Given the description of an element on the screen output the (x, y) to click on. 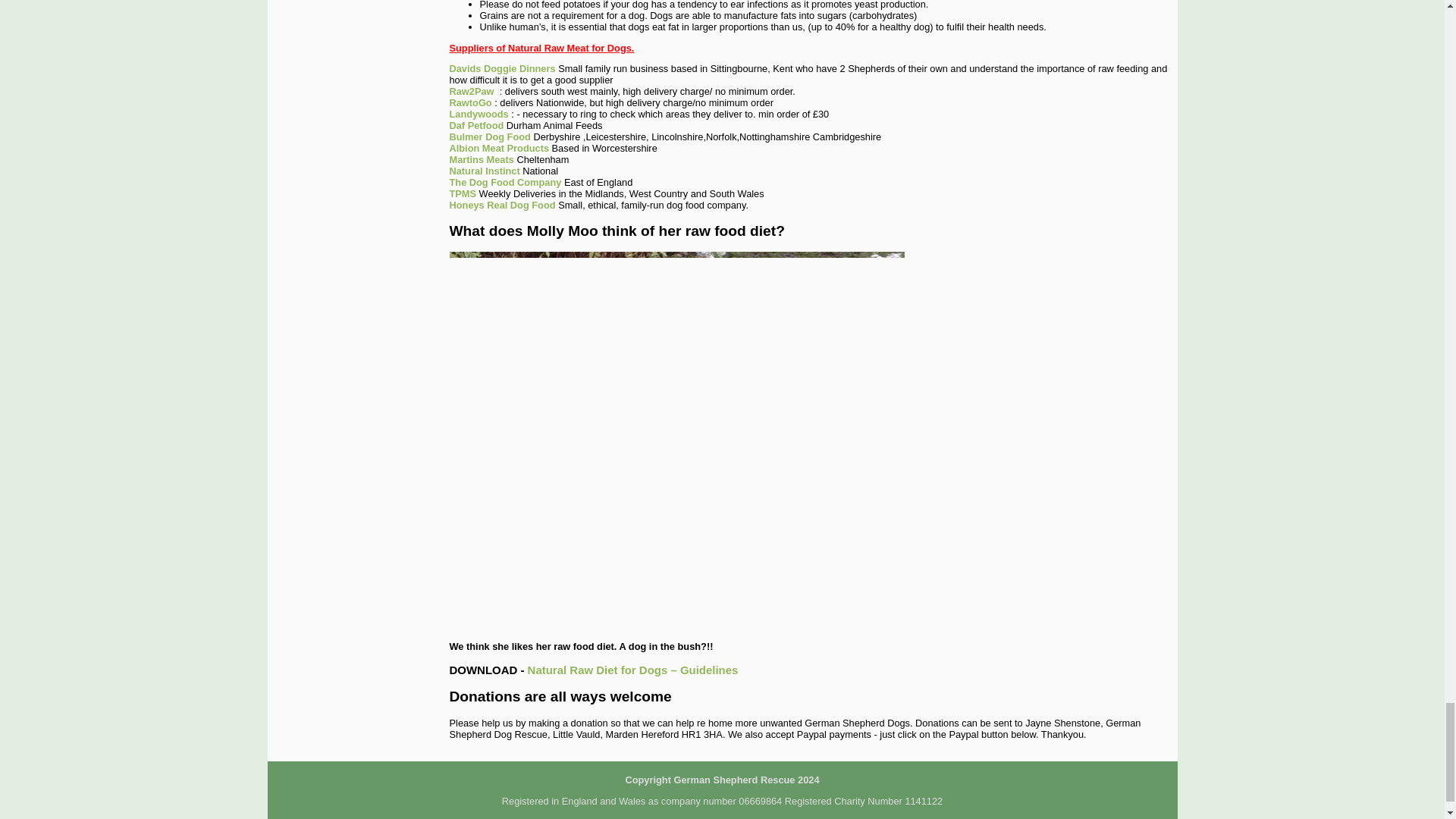
Martins Meats (480, 159)
Davids Doggie Dinners (501, 68)
Raw2Paw (470, 91)
Bulmer Dog Food (488, 136)
Daf Petfood (475, 125)
RawtoGo (470, 102)
Landywoods (478, 113)
Natural Instinct (483, 170)
Albion Meat Products (498, 147)
